Given the description of an element on the screen output the (x, y) to click on. 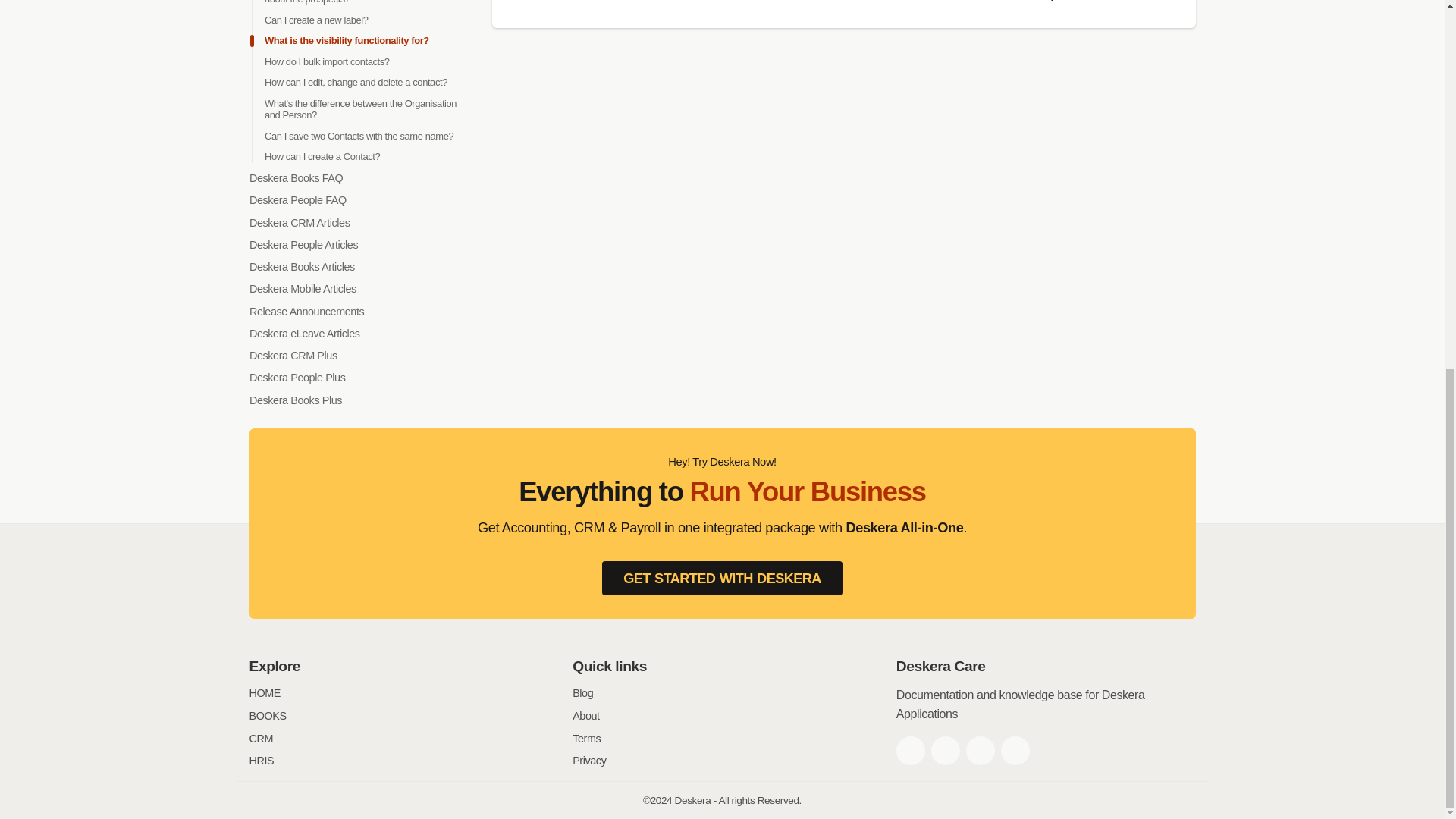
Deskera Linkedin (980, 750)
How do I bulk import contacts? (325, 61)
Twitter (945, 750)
Deskera YouTube (1015, 750)
Can I save two Contacts with the same name? (357, 135)
How can I edit, change and delete a contact? (354, 81)
Can I create a new label? (315, 19)
Facebook (910, 750)
What is the visibility functionality for? (345, 40)
